Given the description of an element on the screen output the (x, y) to click on. 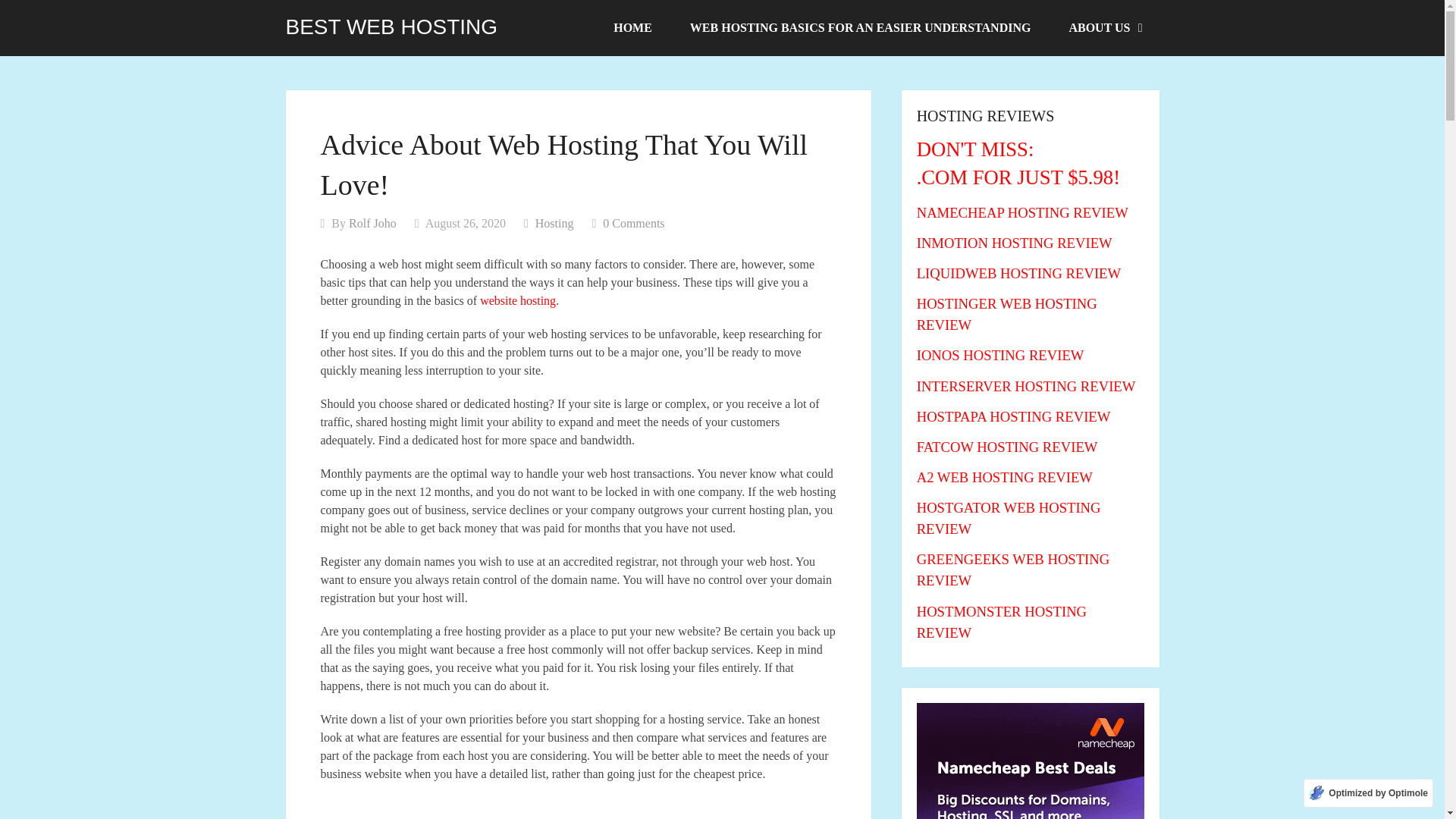
website hosting (518, 300)
INTERSERVER HOSTING REVIEW (1026, 385)
Advertisement (577, 808)
BEST WEB HOSTING (391, 26)
Hosting (554, 223)
Posts by Rolf Joho (372, 223)
A2 WEB HOSTING REVIEW (1005, 477)
LIQUIDWEB HOSTING REVIEW (1019, 273)
HOSTINGER WEB HOSTING REVIEW (1007, 313)
HOSTPAPA HOSTING REVIEW (1013, 416)
